Given the description of an element on the screen output the (x, y) to click on. 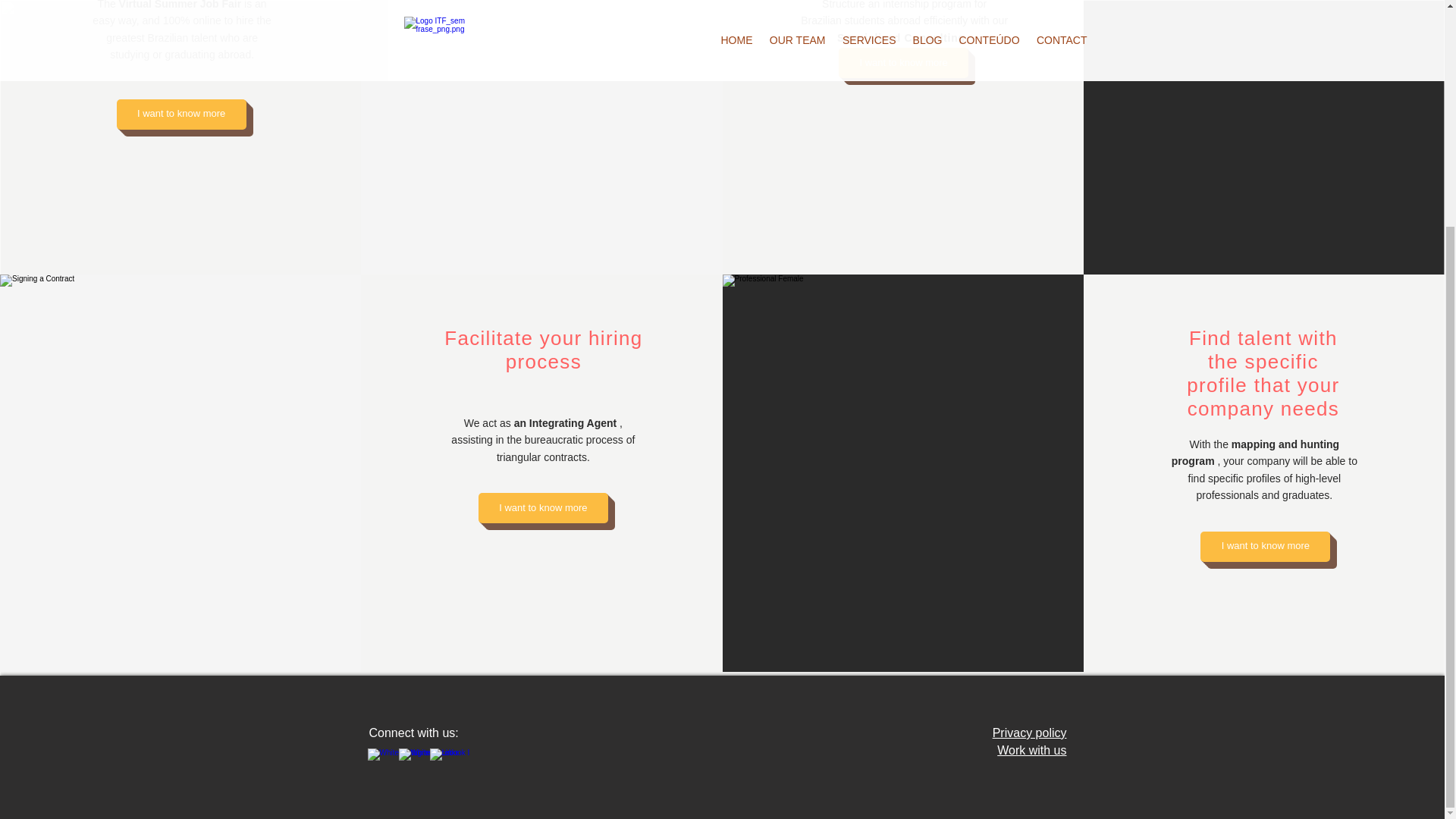
Privacy policy (1029, 732)
I want to know more (181, 114)
I want to know more (903, 62)
Work with us (1031, 749)
I want to know more (543, 508)
I want to know more (1264, 546)
